Given the description of an element on the screen output the (x, y) to click on. 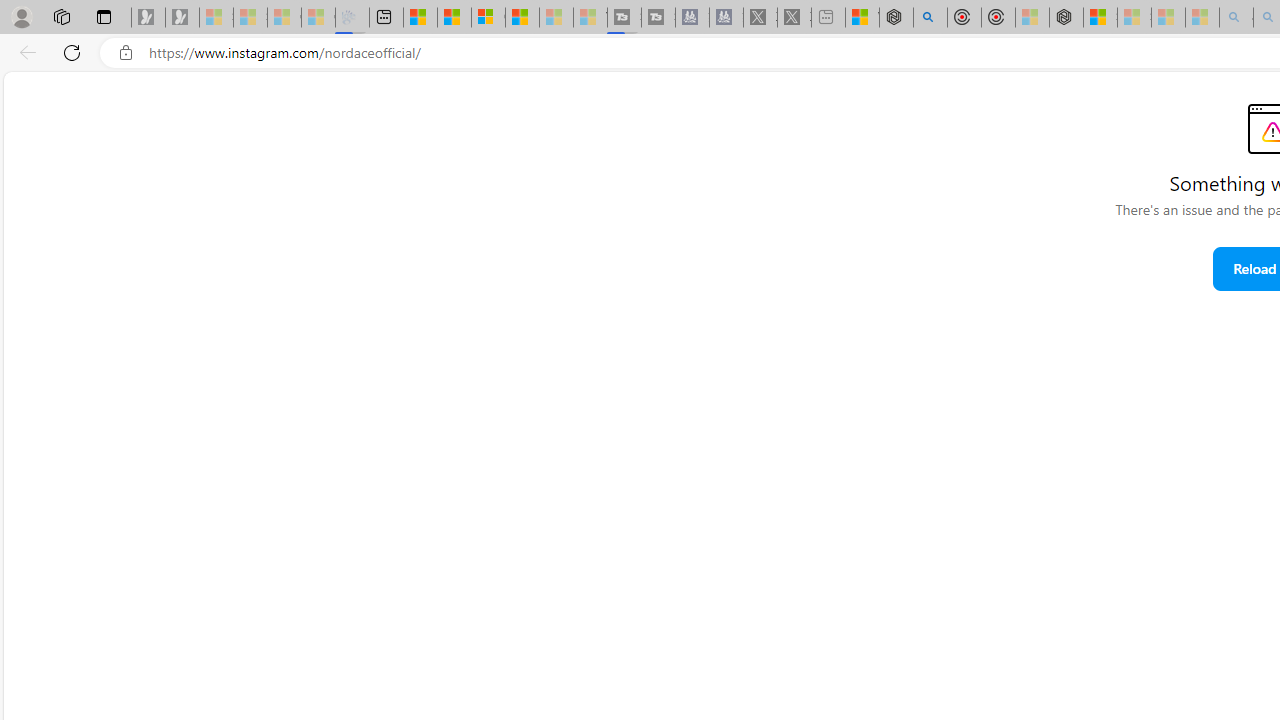
Nordace - Nordace Siena Is Not An Ordinary Backpack (1065, 17)
poe - Search (930, 17)
